Given the description of an element on the screen output the (x, y) to click on. 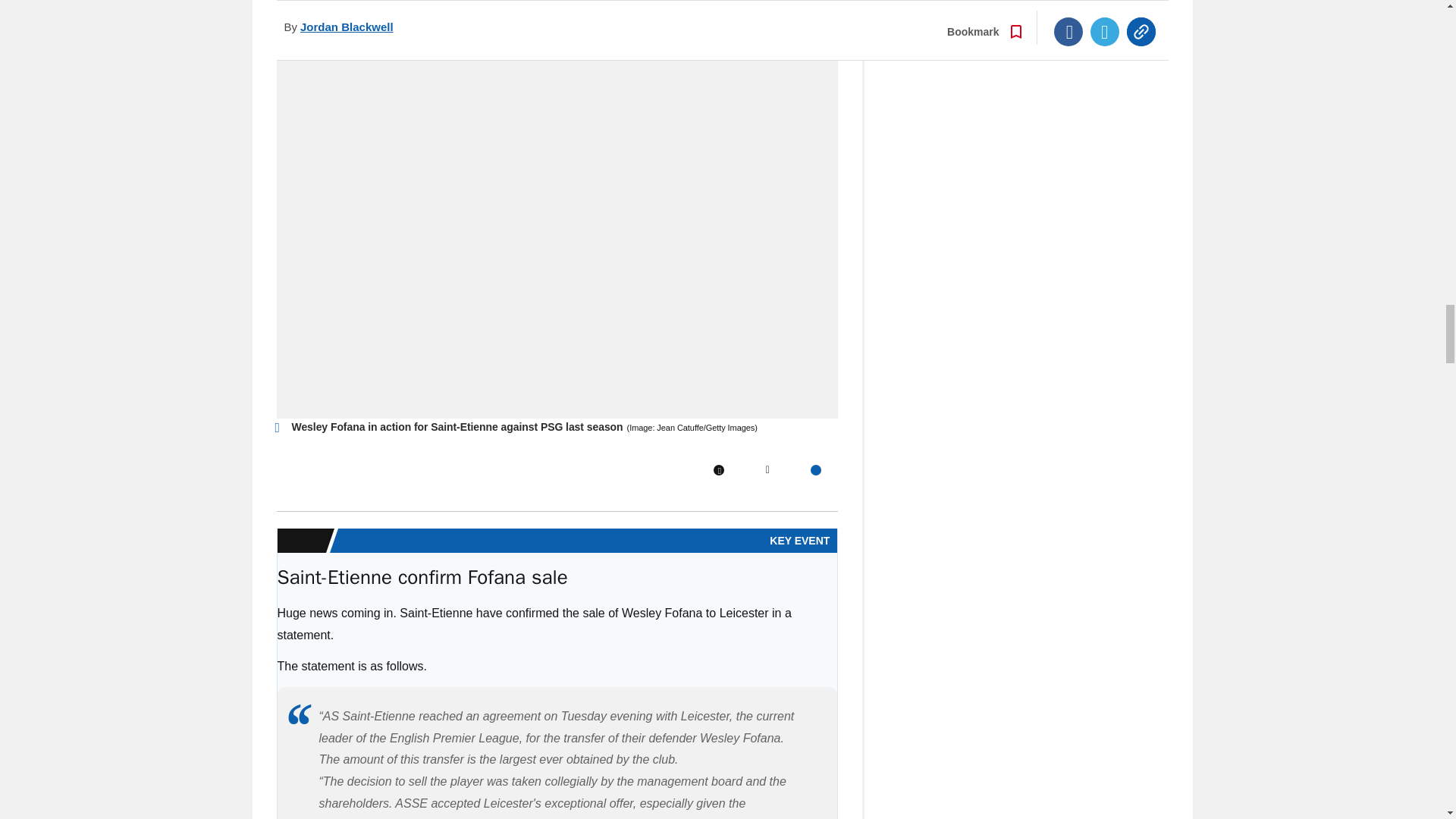
Facebook (718, 470)
Twitter (767, 470)
